Given the description of an element on the screen output the (x, y) to click on. 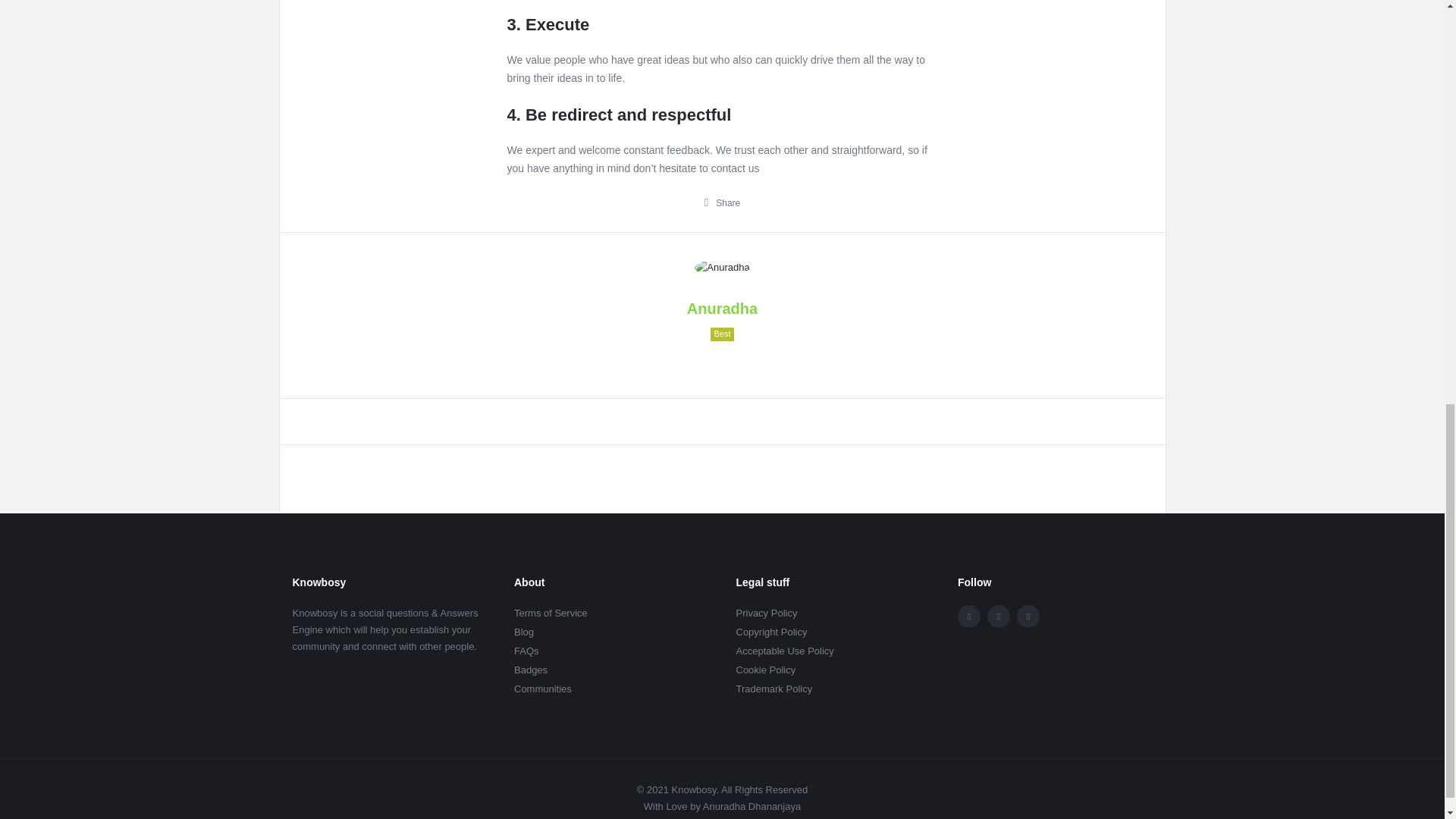
Twitter (998, 616)
Pinterest (1027, 616)
Anuradha (722, 267)
Facebook (968, 616)
